Given the description of an element on the screen output the (x, y) to click on. 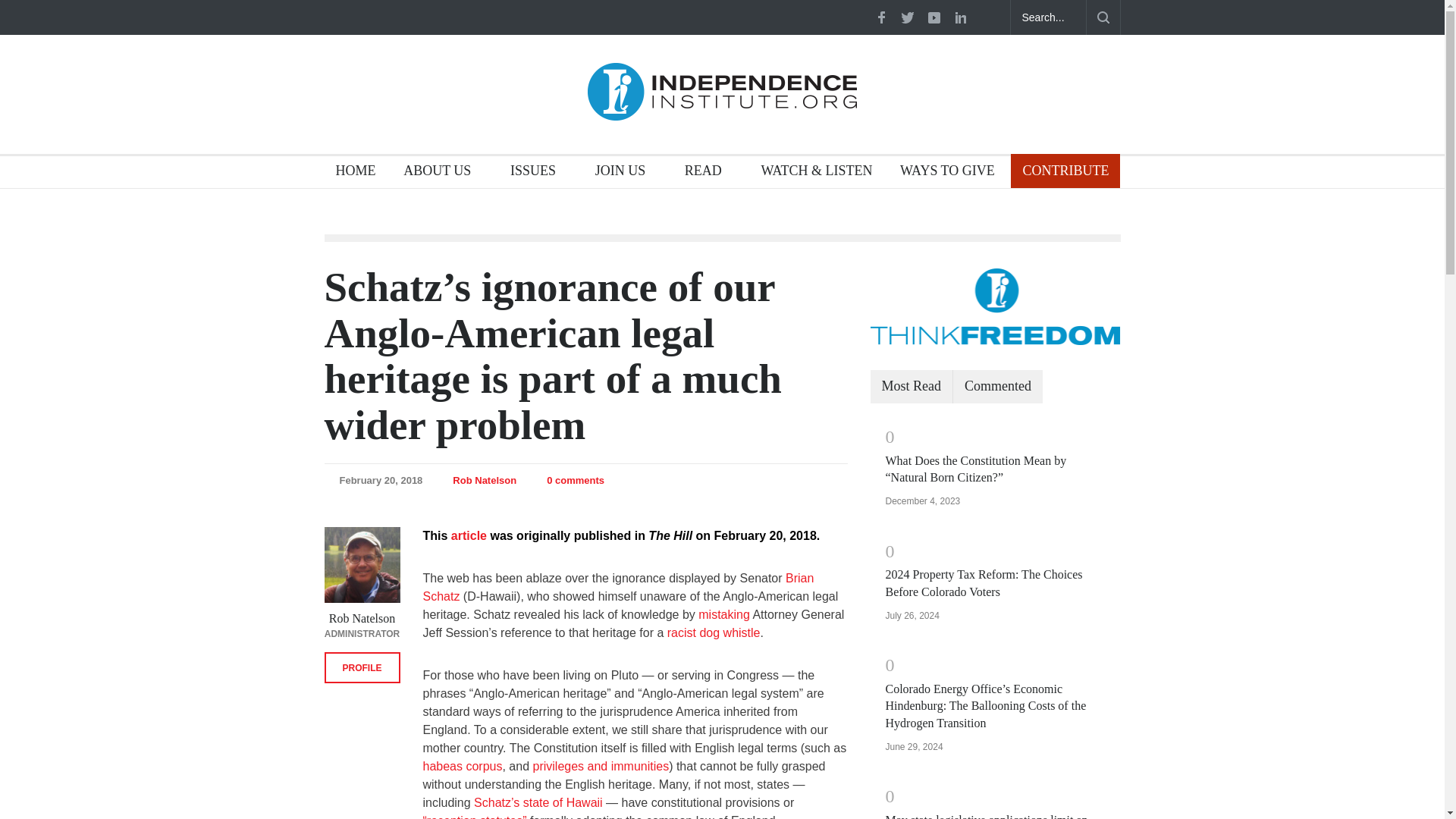
JOIN US (625, 172)
READ (708, 172)
Search... (1048, 17)
ISSUES (538, 172)
Search... (1048, 17)
ABOUT US (442, 172)
